Given the description of an element on the screen output the (x, y) to click on. 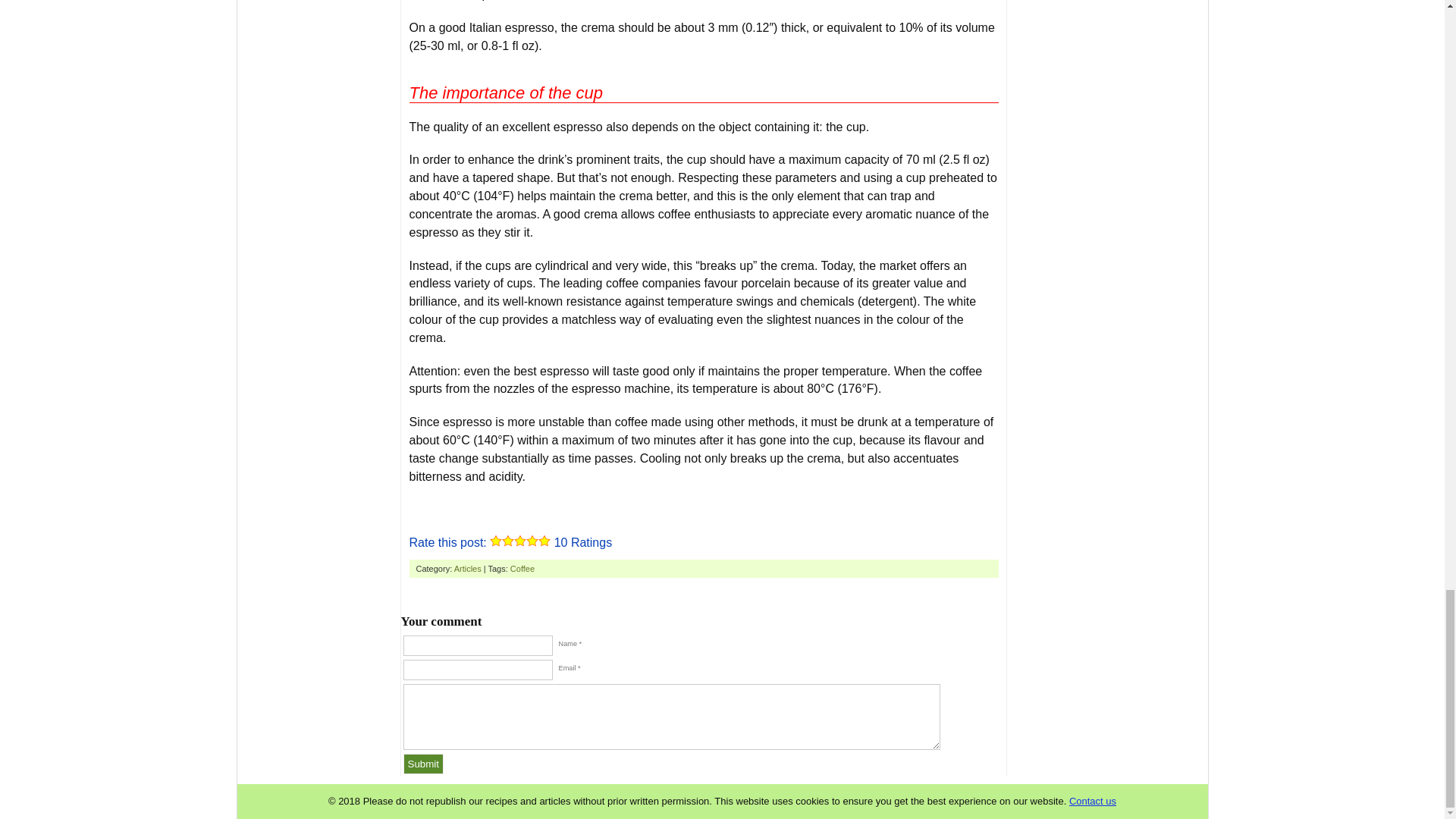
5 Stars (544, 540)
Articles (467, 568)
2 Stars (507, 540)
Submit (423, 763)
Submit (423, 763)
3 Stars (519, 540)
1 Star (495, 540)
Coffee (522, 568)
4 Stars (531, 540)
